Given the description of an element on the screen output the (x, y) to click on. 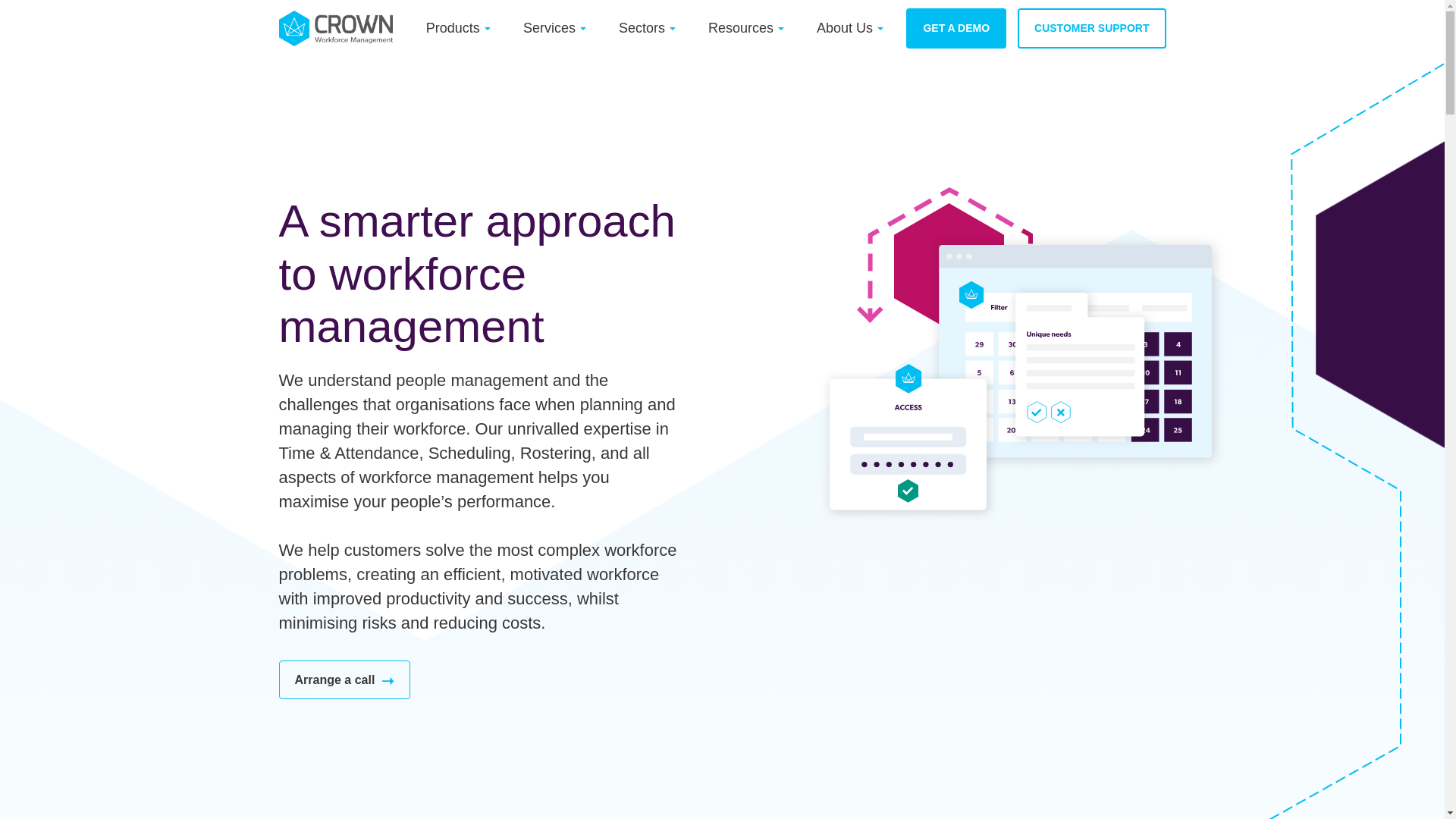
crown-logo-tagline-colour-1 (336, 27)
Sectors (641, 28)
Services (548, 28)
Products (453, 28)
Resources (740, 28)
